Given the description of an element on the screen output the (x, y) to click on. 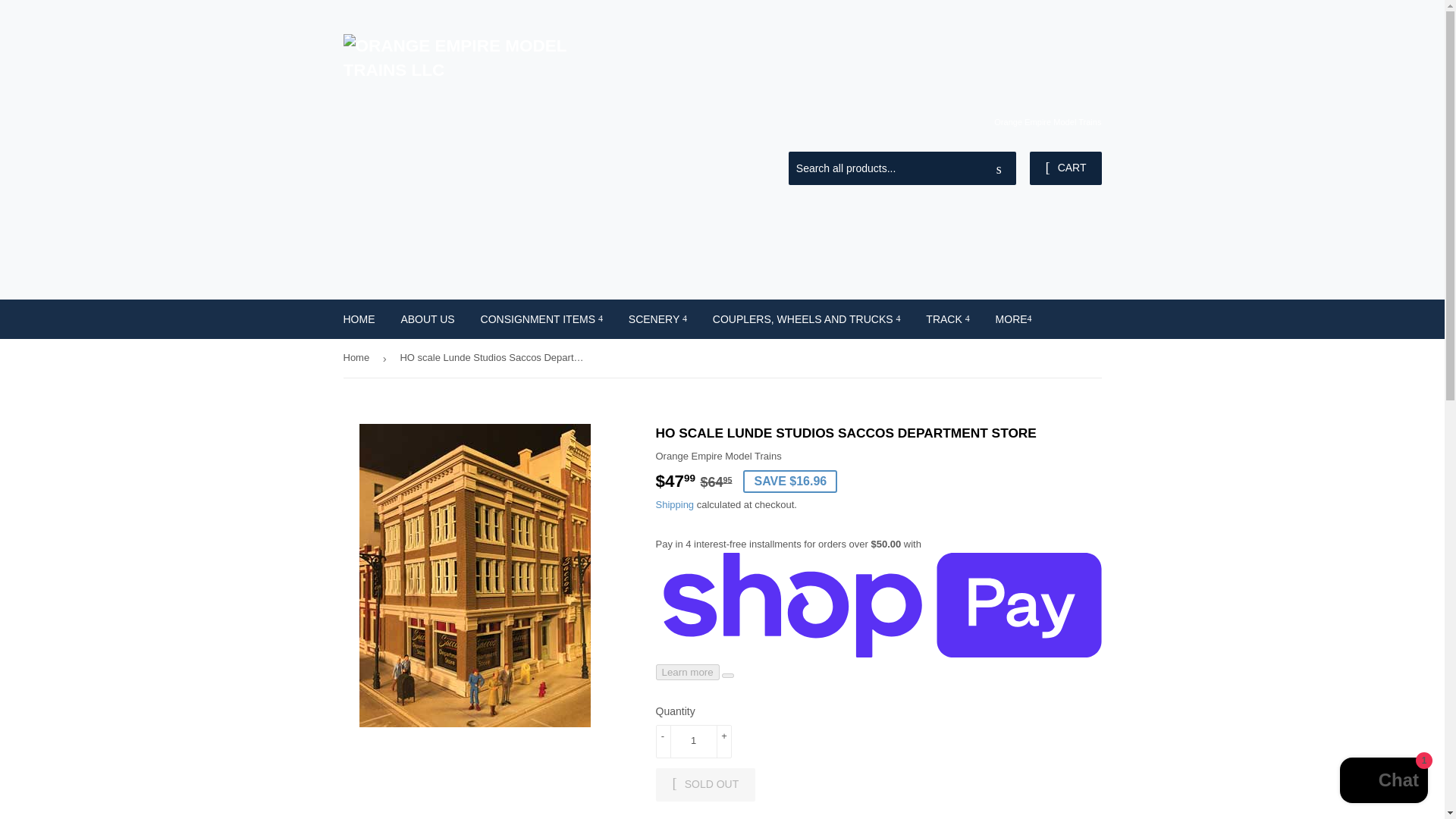
CART (1064, 168)
Shopify online store chat (1383, 781)
1 (692, 741)
Search (998, 169)
